Given the description of an element on the screen output the (x, y) to click on. 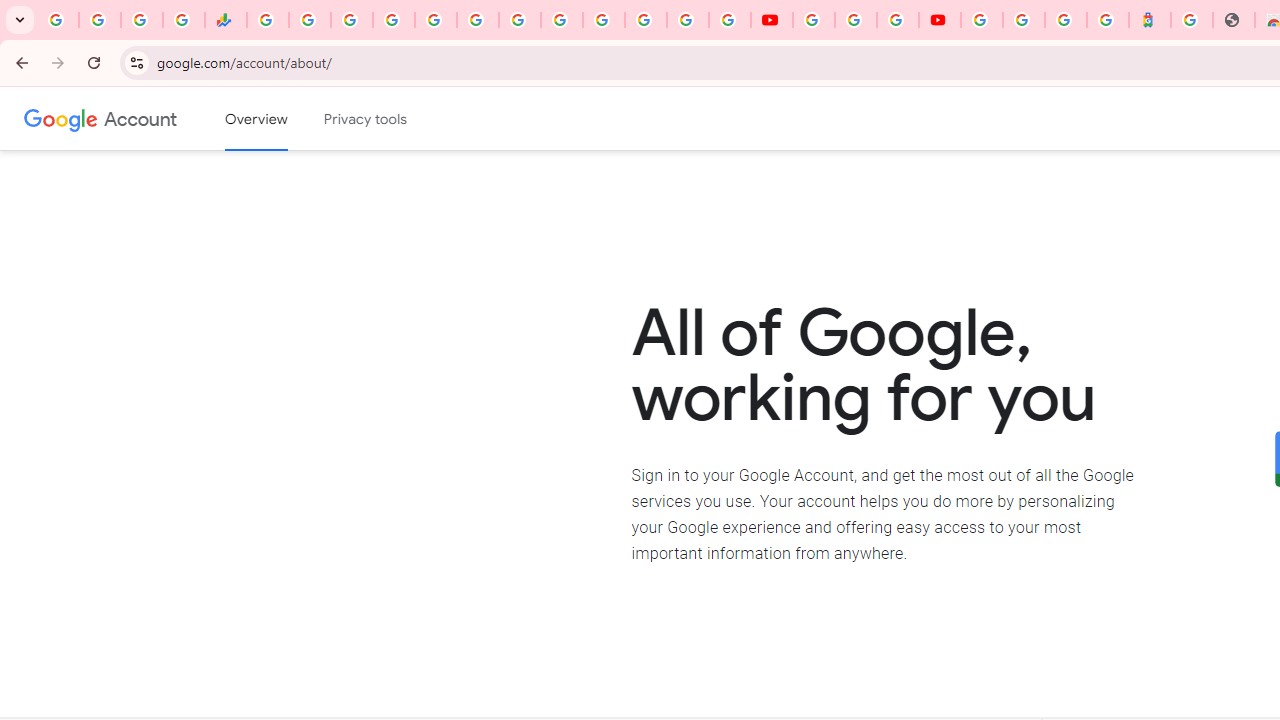
Sign in - Google Accounts (982, 20)
Atour Hotel - Google hotels (1150, 20)
YouTube (561, 20)
YouTube (813, 20)
Privacy Checkup (730, 20)
Create your Google Account (897, 20)
